Given the description of an element on the screen output the (x, y) to click on. 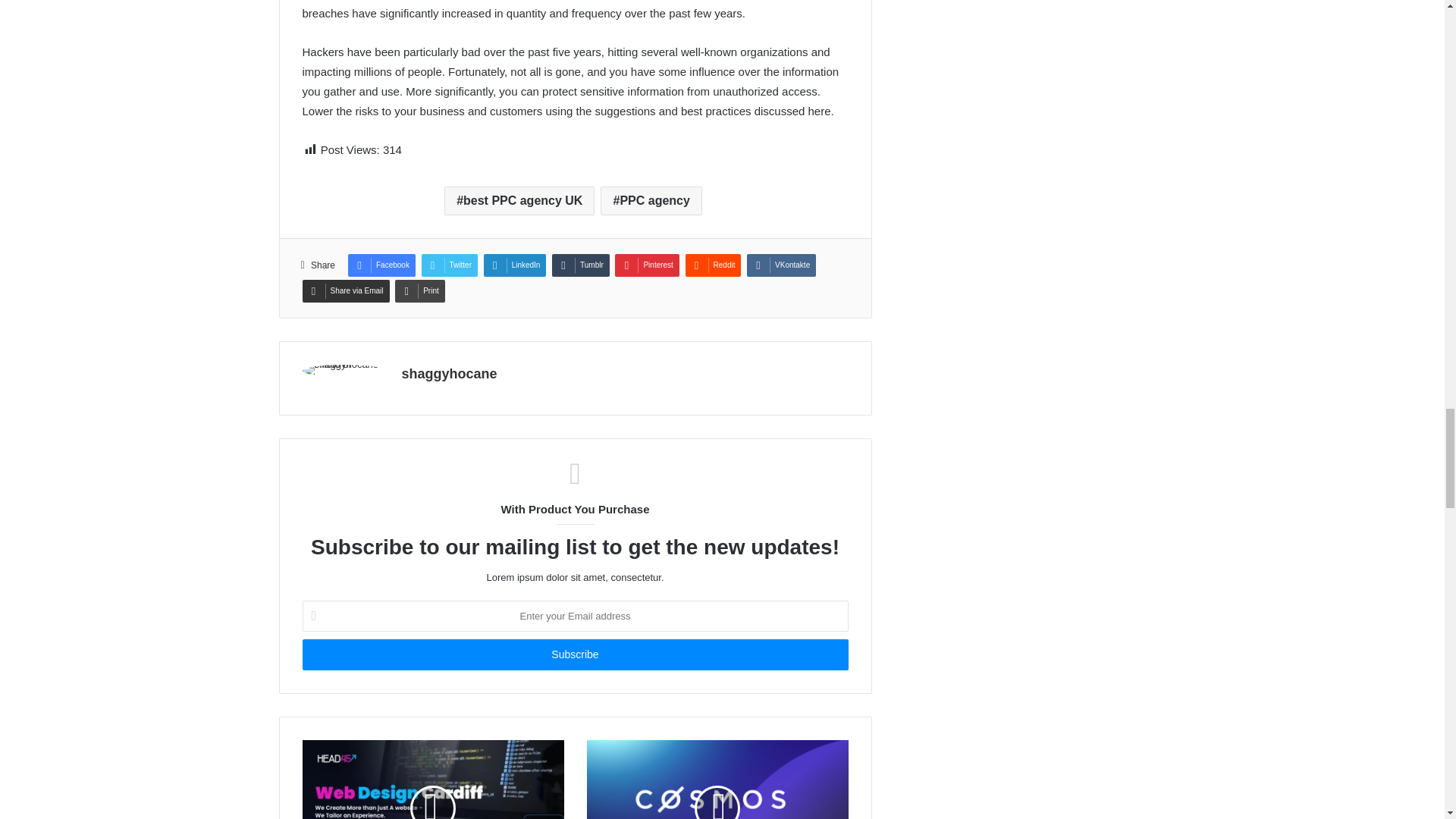
best PPC agency UK (519, 200)
PPC agency (650, 200)
Subscribe (574, 654)
